Given the description of an element on the screen output the (x, y) to click on. 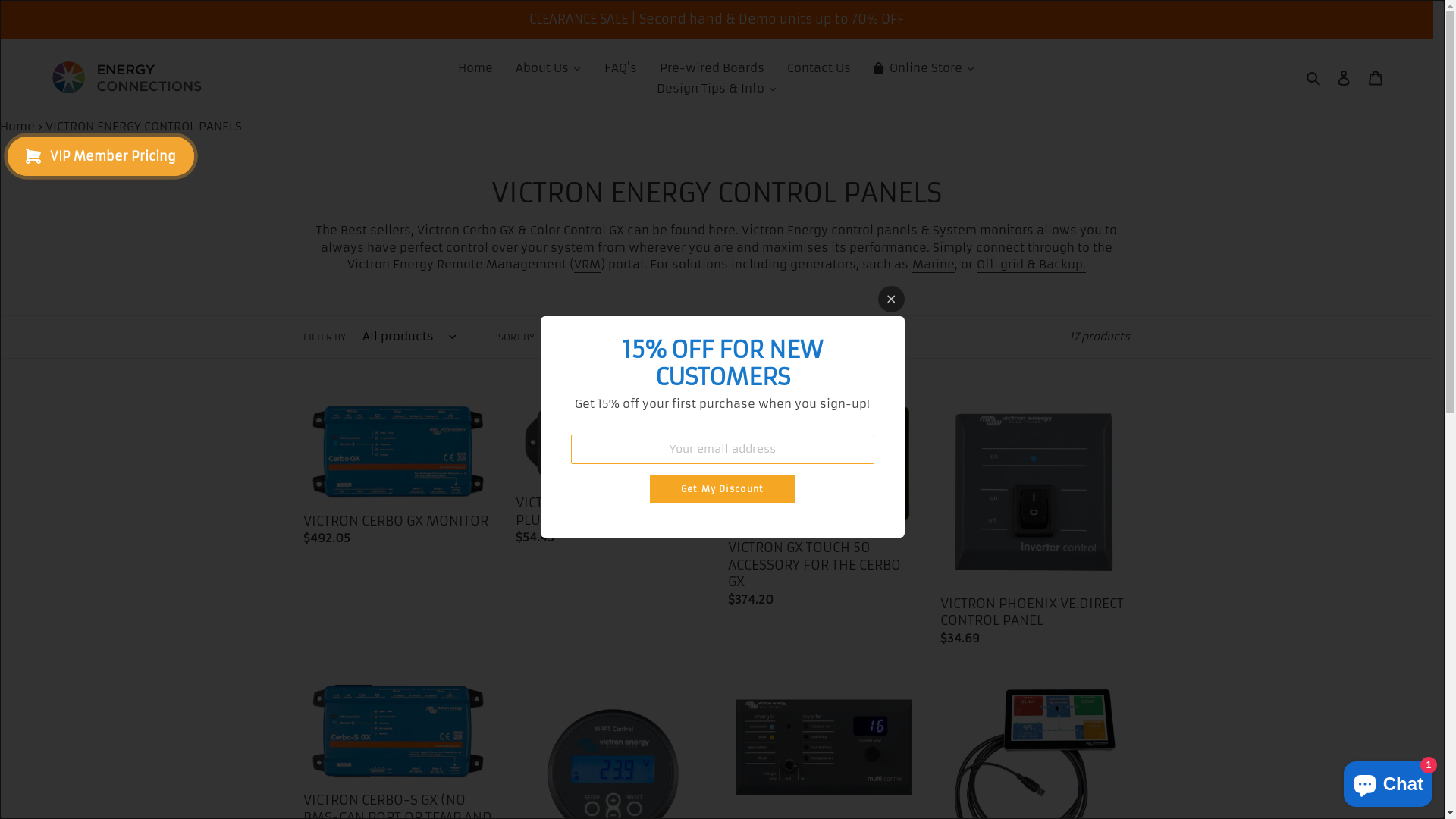
VICTRON GX TOUCH 50 ACCESSORY FOR THE CERBO GX Element type: text (822, 507)
Search Element type: text (1314, 78)
Marine Element type: text (933, 265)
Design Tips & Info Element type: text (715, 88)
VICTRON CERBO GX MONITOR Element type: text (397, 476)
Off-grid & Backup. Element type: text (1030, 265)
CLEARANCE SALE | Second hand & Demo units up to 70% OFF Element type: text (716, 18)
Online Store Element type: text (923, 67)
VICTRON PHOENIX VE.DIRECT CONTROL PANEL Element type: text (1034, 526)
Home Element type: text (475, 67)
VICTRON SMARTSOLAR PLUGGABLE DISPLAY Element type: text (610, 476)
Shopify online store chat Element type: hover (1388, 780)
Get My Discount Element type: text (721, 488)
Contact Us Element type: text (818, 67)
FAQ's Element type: text (620, 67)
Home Element type: text (17, 126)
Cart Element type: text (1375, 78)
About Us Element type: text (548, 67)
VRM Element type: text (587, 265)
Pre-wired Boards Element type: text (711, 67)
Log in Element type: text (1343, 78)
